Given the description of an element on the screen output the (x, y) to click on. 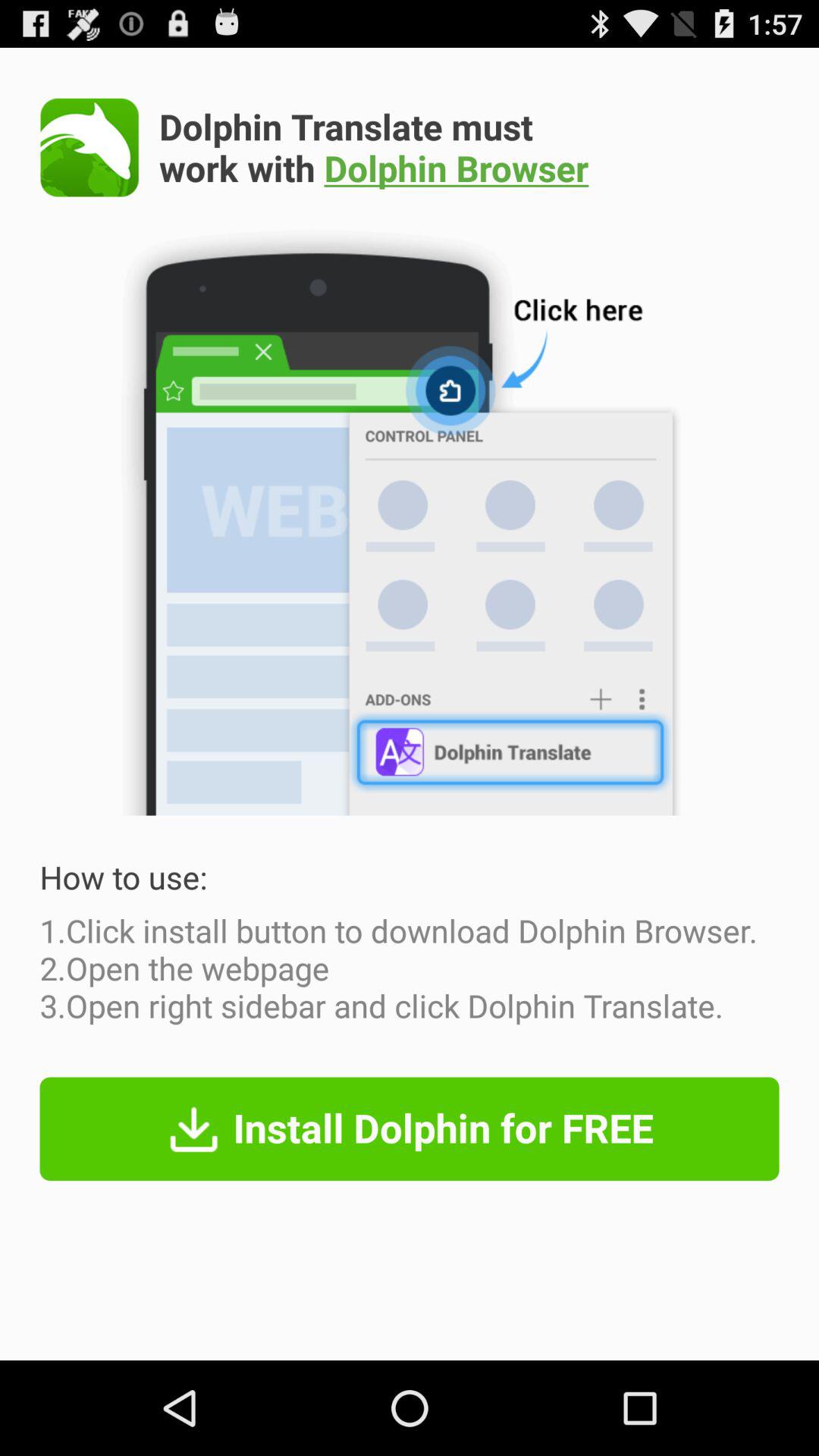
go to app (89, 147)
